Given the description of an element on the screen output the (x, y) to click on. 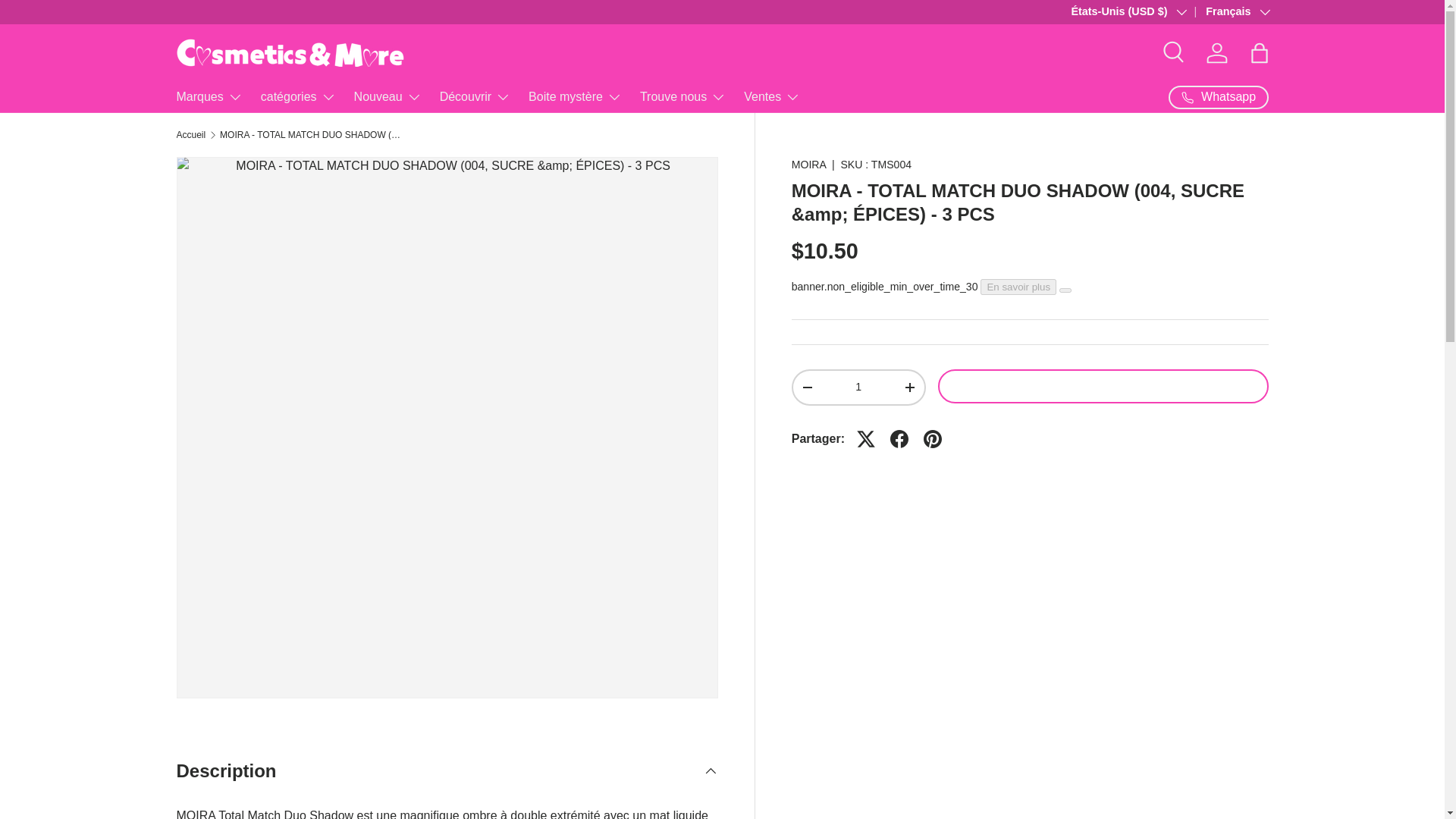
Partager sur Facebook (898, 438)
Tweeter sur X (865, 438)
Aller au contenu (69, 21)
Se connecter (1216, 52)
Recherche (1174, 52)
Panier (1258, 52)
1 (858, 386)
Marques (208, 96)
